Given the description of an element on the screen output the (x, y) to click on. 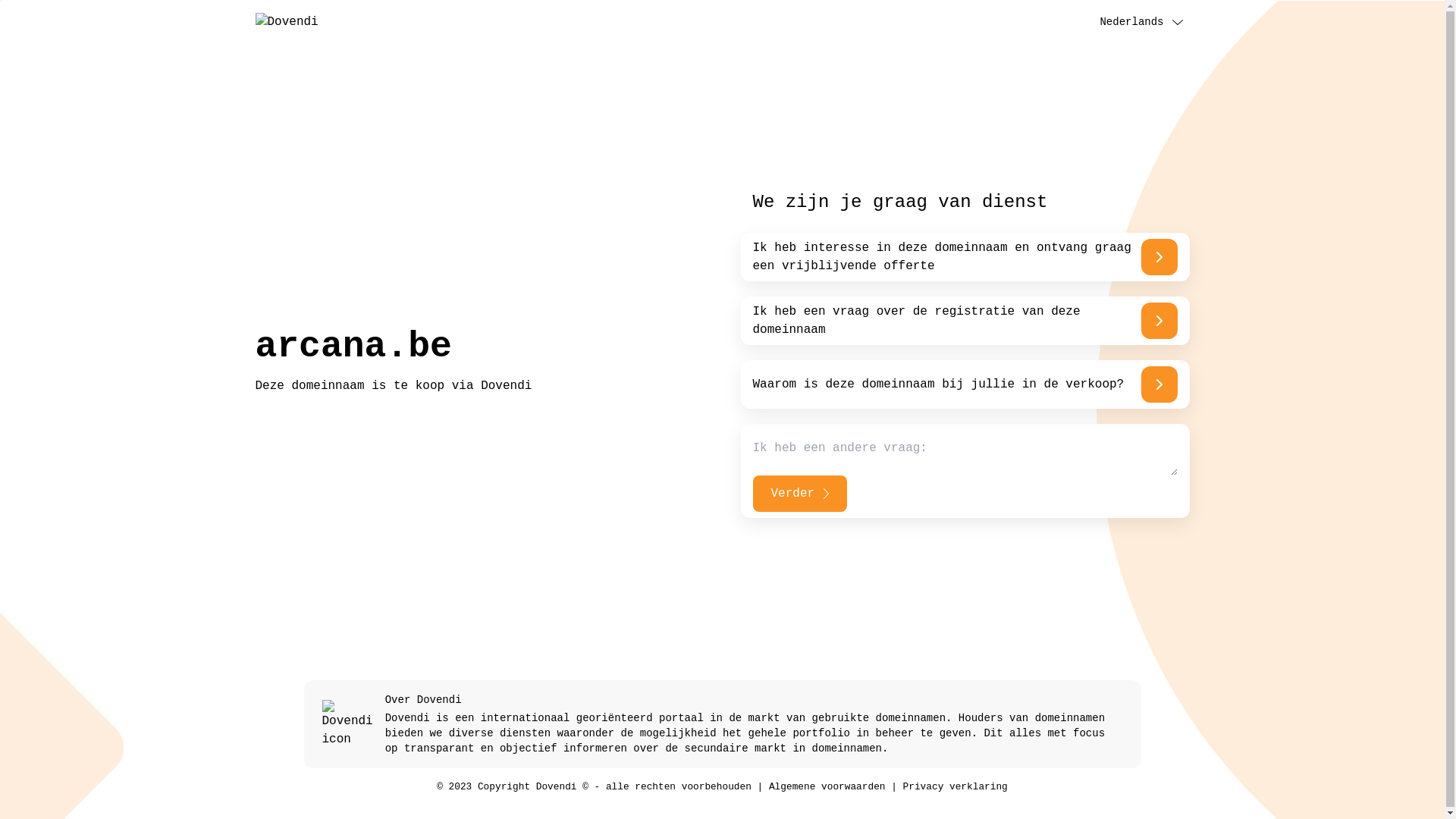
Verder Element type: text (799, 493)
Algemene voorwaarden Element type: text (826, 786)
Privacy verklaring Element type: text (955, 786)
